Given the description of an element on the screen output the (x, y) to click on. 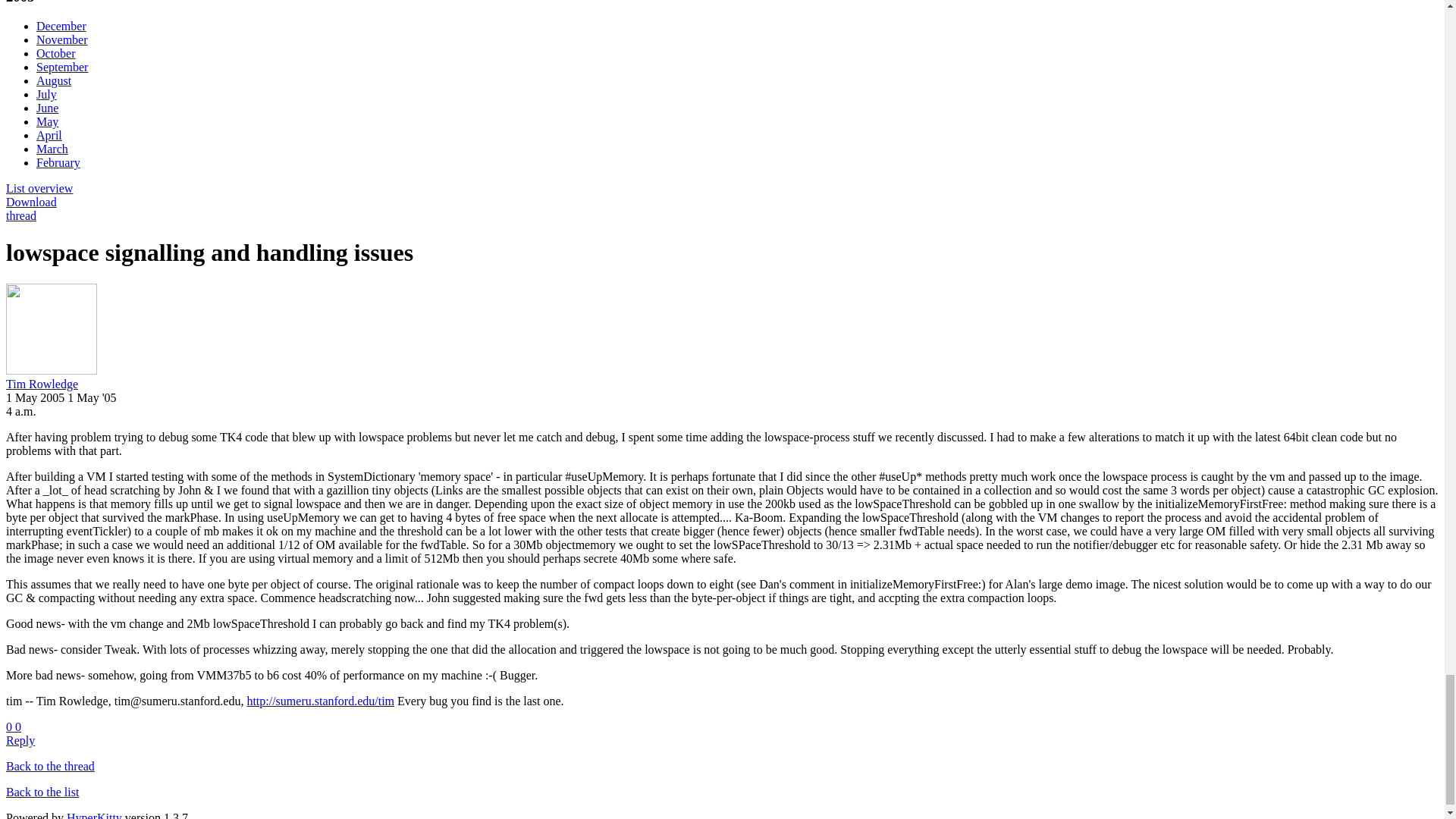
Sign in to reply online (19, 739)
Sender's time: April 30, 2005, 7 p.m. (20, 410)
See the profile for Tim Rowledge (41, 383)
This message in gzipped mbox format (30, 201)
